Given the description of an element on the screen output the (x, y) to click on. 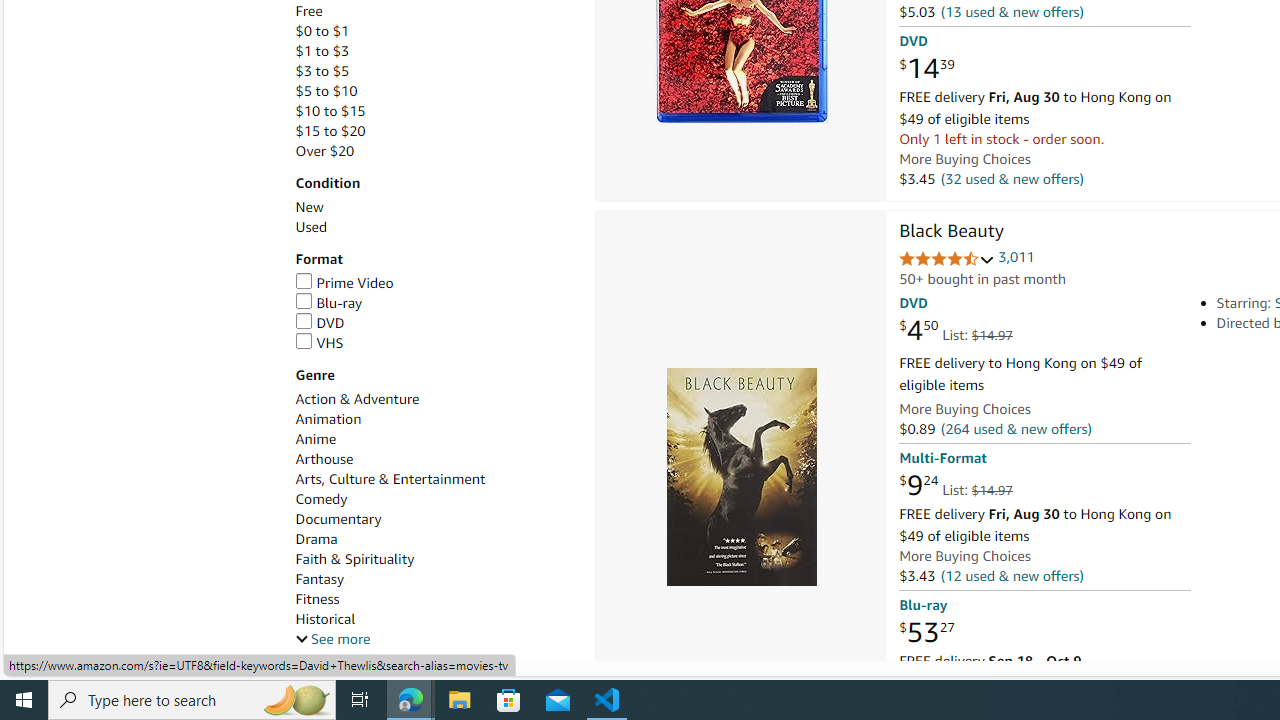
Historical (324, 619)
Fitness (317, 599)
Drama (315, 538)
Prime Video (344, 282)
$0 to $1 (434, 31)
VHS (434, 343)
Animation (434, 419)
Comedy (321, 499)
$10 to $15 (434, 111)
Blu-ray (328, 303)
